Given the description of an element on the screen output the (x, y) to click on. 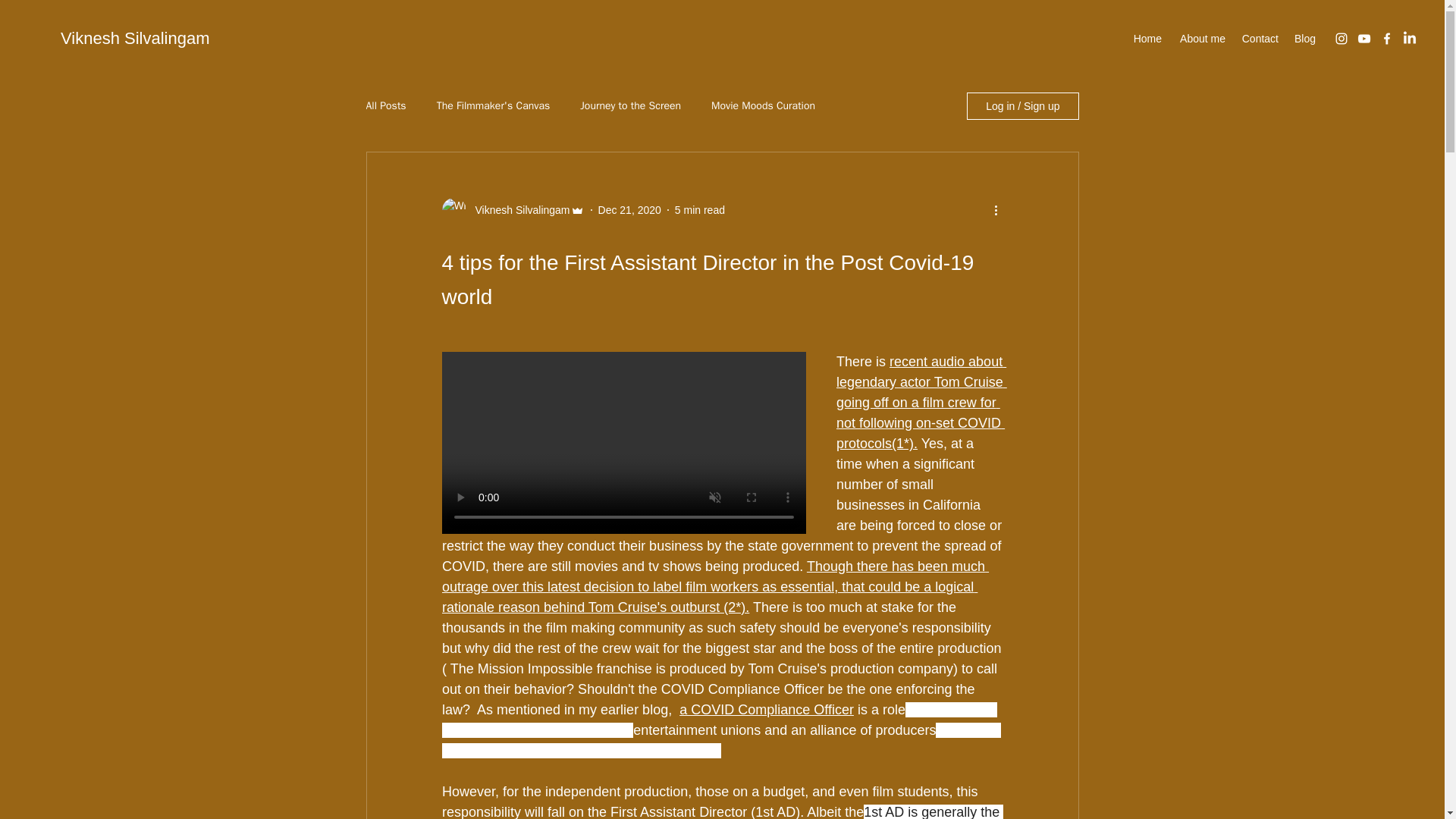
Movie Moods Curation (763, 106)
Dec 21, 2020 (629, 209)
Blog (1304, 38)
a COVID Compliance Officer (766, 709)
5 min read (700, 209)
Journey to the Screen (630, 106)
Contact (1259, 38)
Home (1147, 38)
Viknesh Silvalingam (517, 210)
The Filmmaker's Canvas (493, 106)
All Posts (385, 106)
About me (1201, 38)
